Given the description of an element on the screen output the (x, y) to click on. 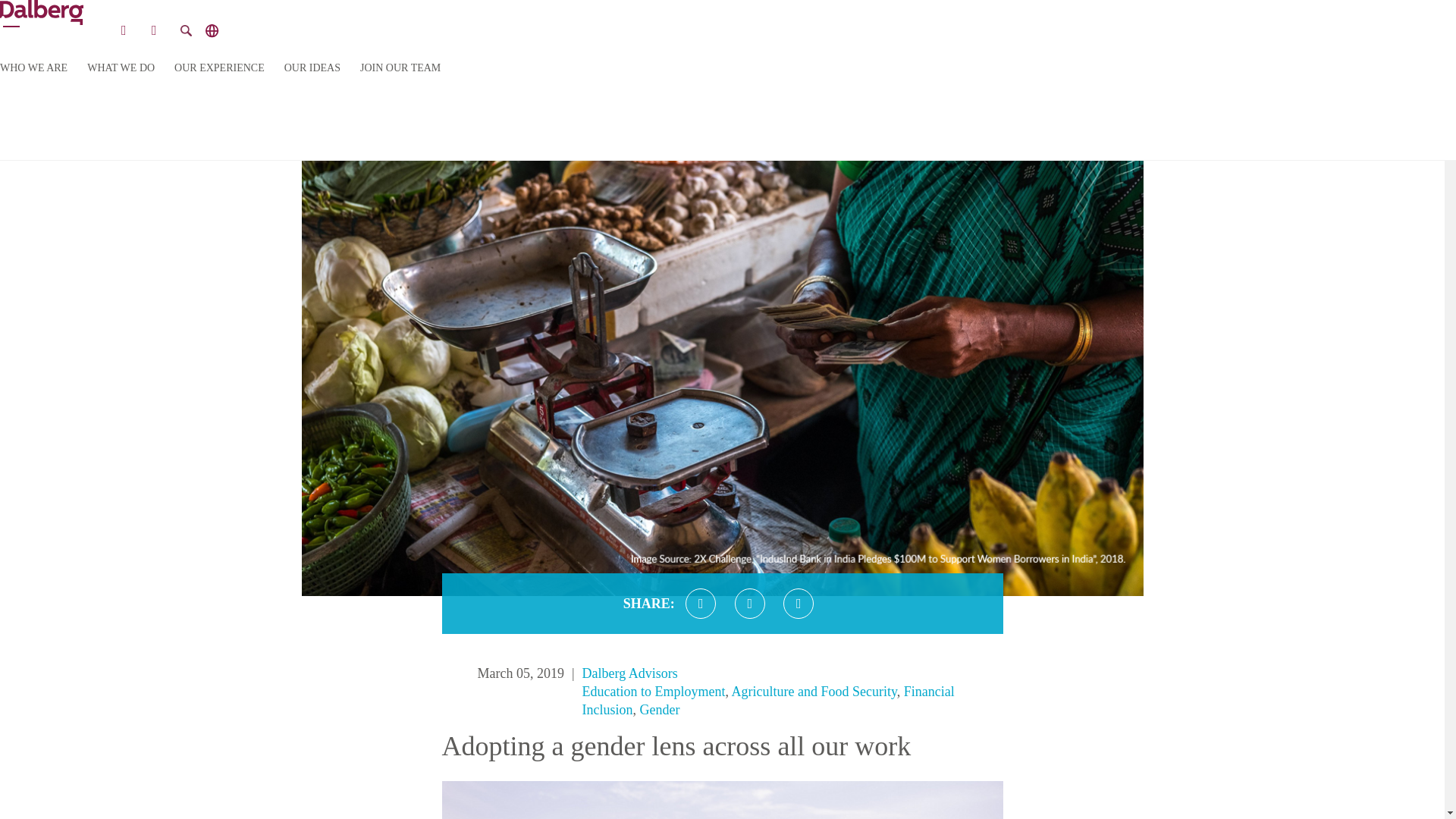
OUR IDEAS (311, 67)
OUR EXPERIENCE (219, 67)
Dalberg Advisors (630, 672)
WHAT WE DO (120, 67)
JOIN OUR TEAM (400, 67)
WHO WE ARE (33, 67)
